Given the description of an element on the screen output the (x, y) to click on. 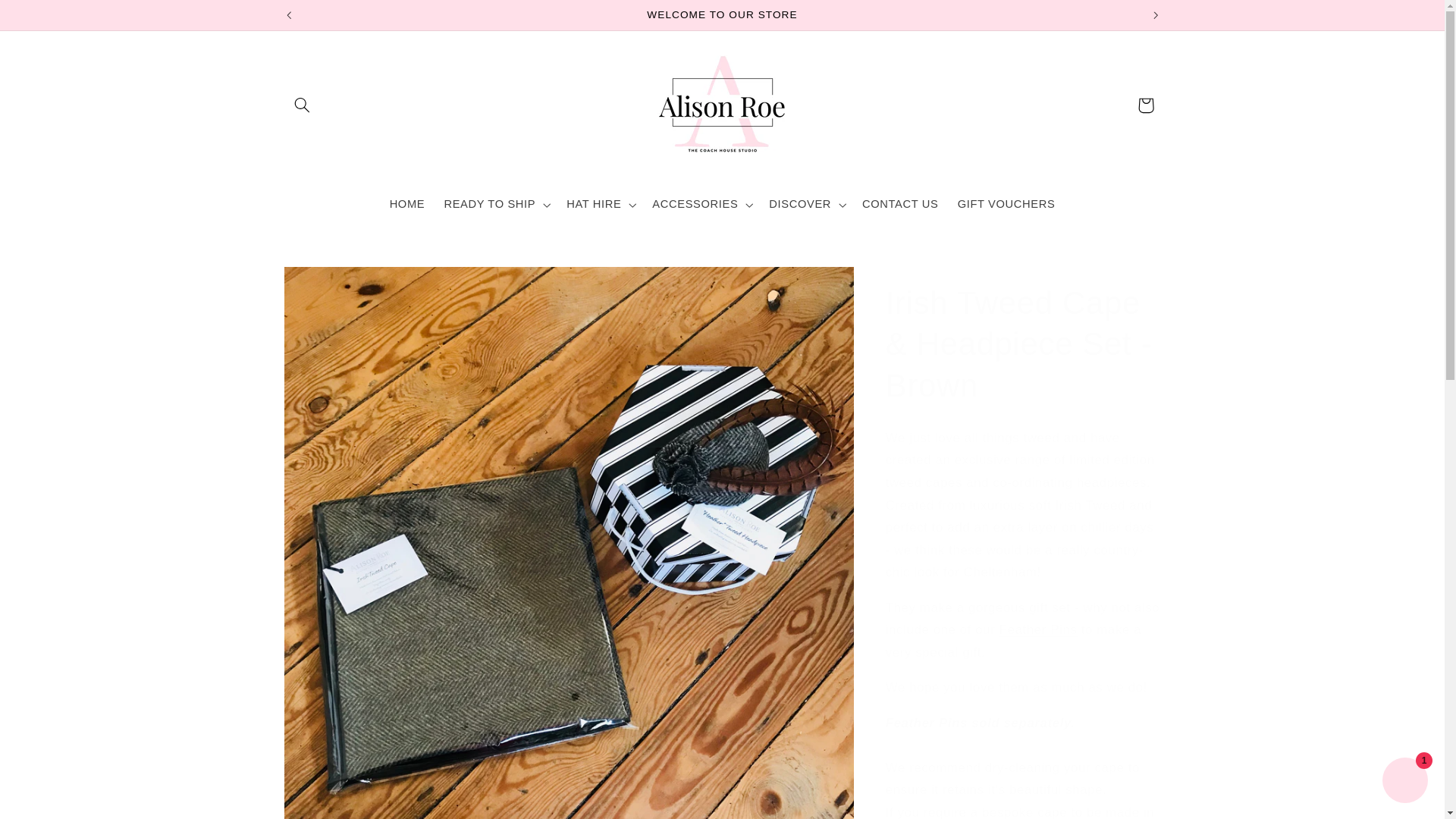
Shopify online store chat (1404, 781)
Feather Brooch Pins - Alison Roe Designer, Tipperary (1037, 629)
Skip to content (48, 18)
